Given the description of an element on the screen output the (x, y) to click on. 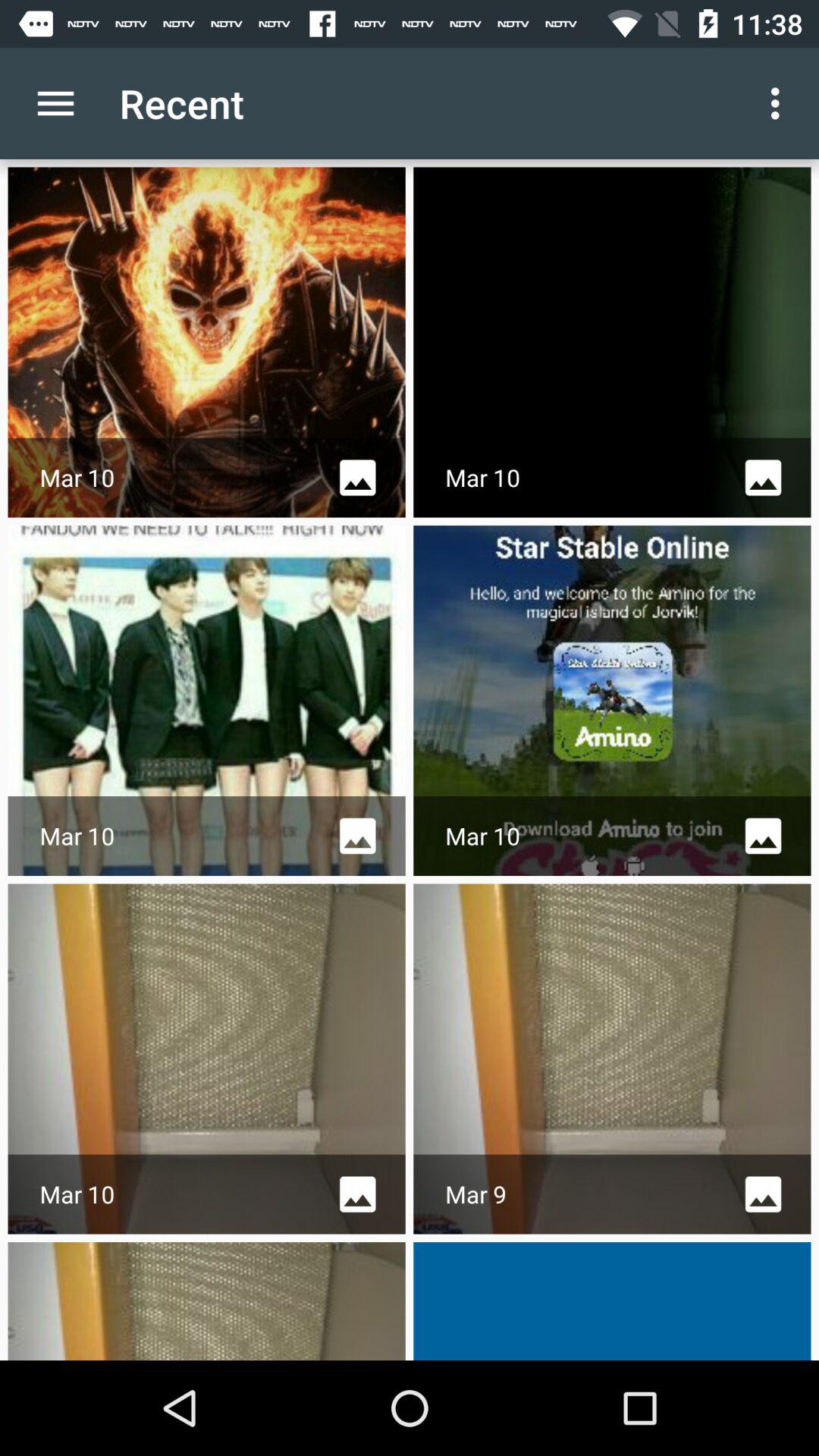
open item next to recent app (55, 103)
